Given the description of an element on the screen output the (x, y) to click on. 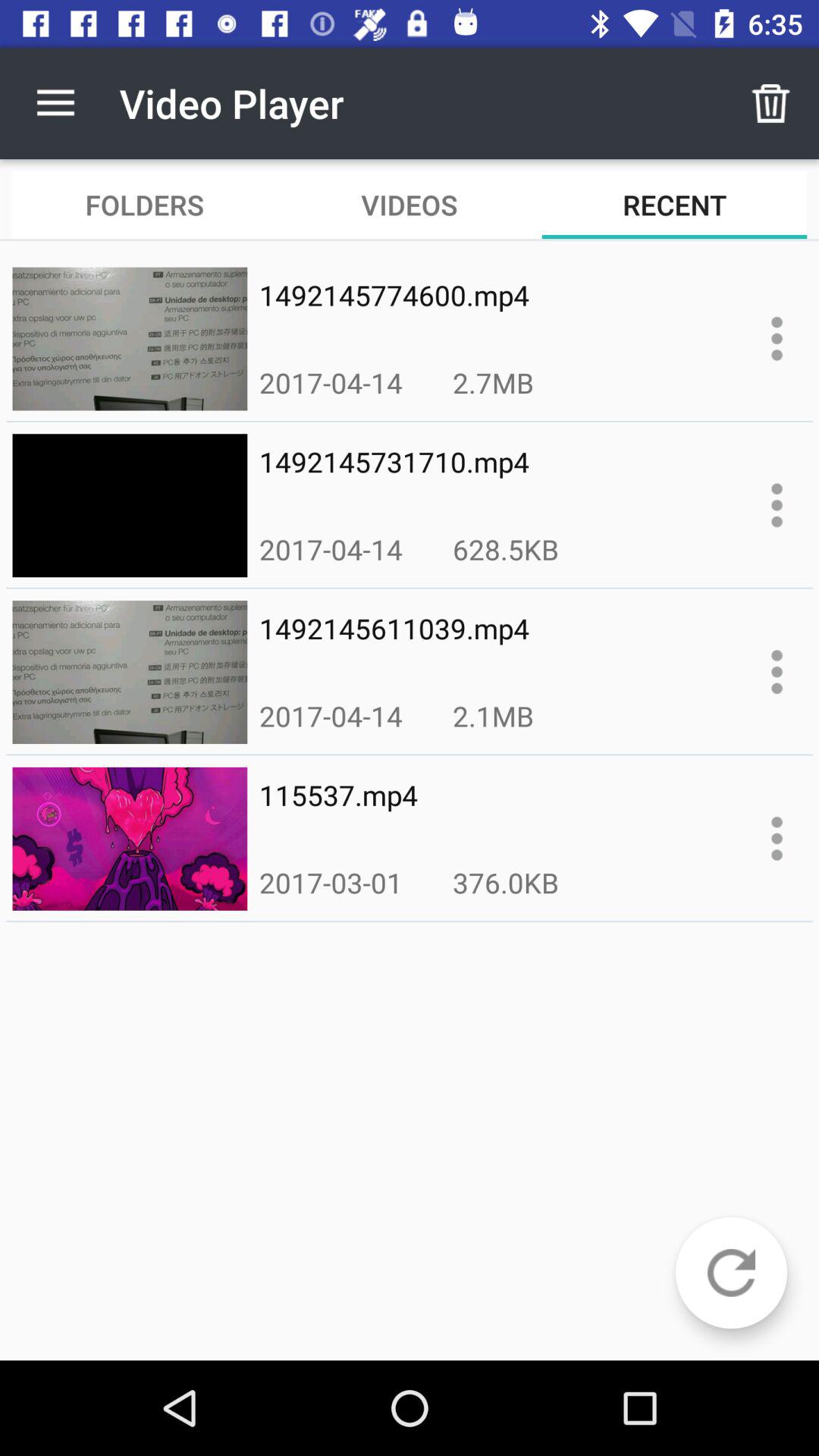
more options (776, 505)
